Given the description of an element on the screen output the (x, y) to click on. 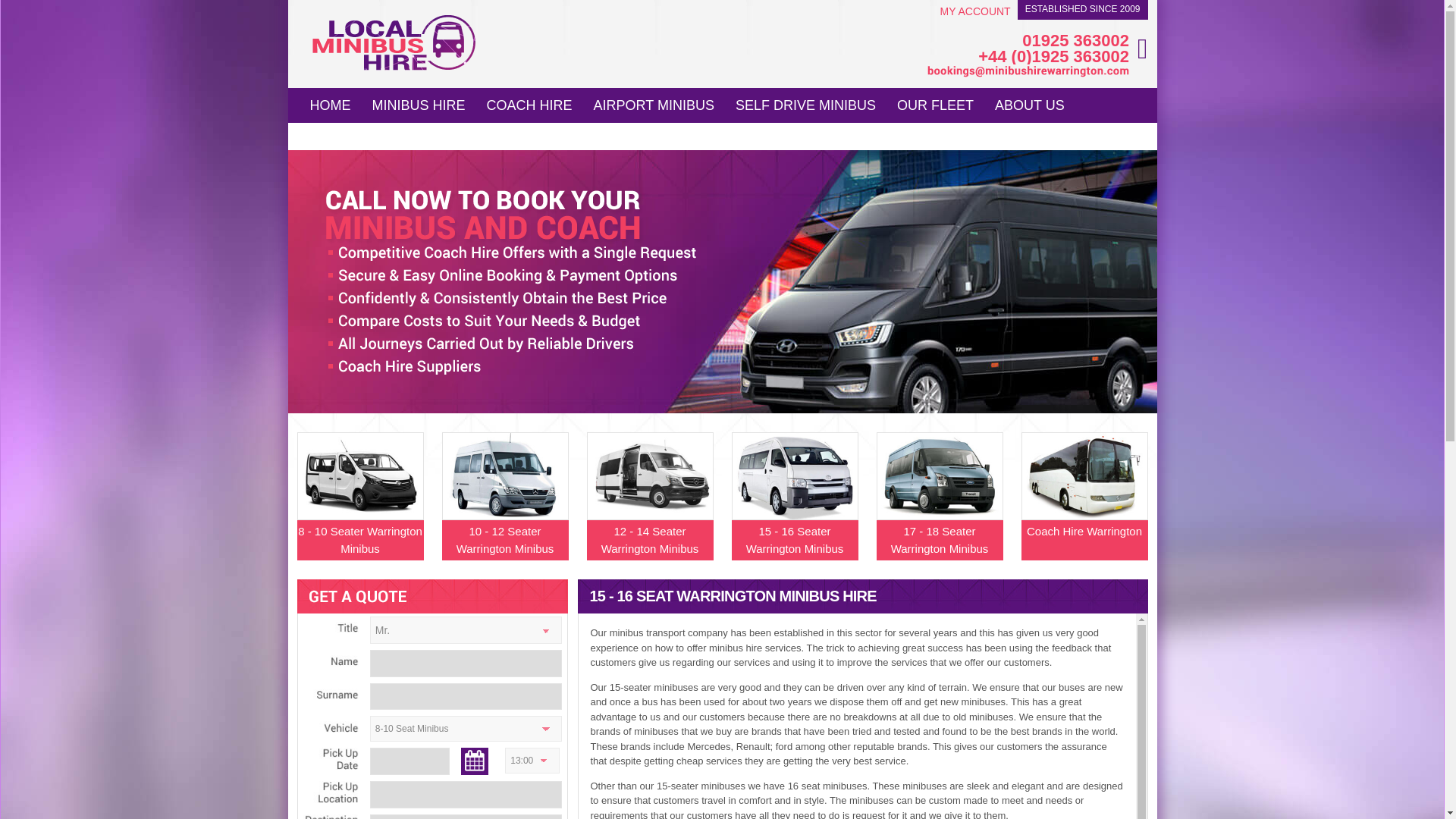
MINIBUS HIRE (418, 102)
10 - 12 Seater Warrington Minibus (504, 510)
8 - 10 Seater Warrington Minibus (360, 510)
CONTACT US (352, 133)
COACH HIRE (529, 102)
15 - 16 Seater Warrington Minibus (793, 510)
HOME (329, 102)
01925 363002 (1027, 41)
17 - 18 Seater Warrington Minibus (939, 510)
AIRPORT MINIBUS (654, 102)
SELF DRIVE MINIBUS (805, 102)
OUR FLEET (935, 102)
12 - 14 Seater Warrington Minibus (649, 510)
ABOUT US (1029, 102)
Coach Hire Warrington (1083, 510)
